Given the description of an element on the screen output the (x, y) to click on. 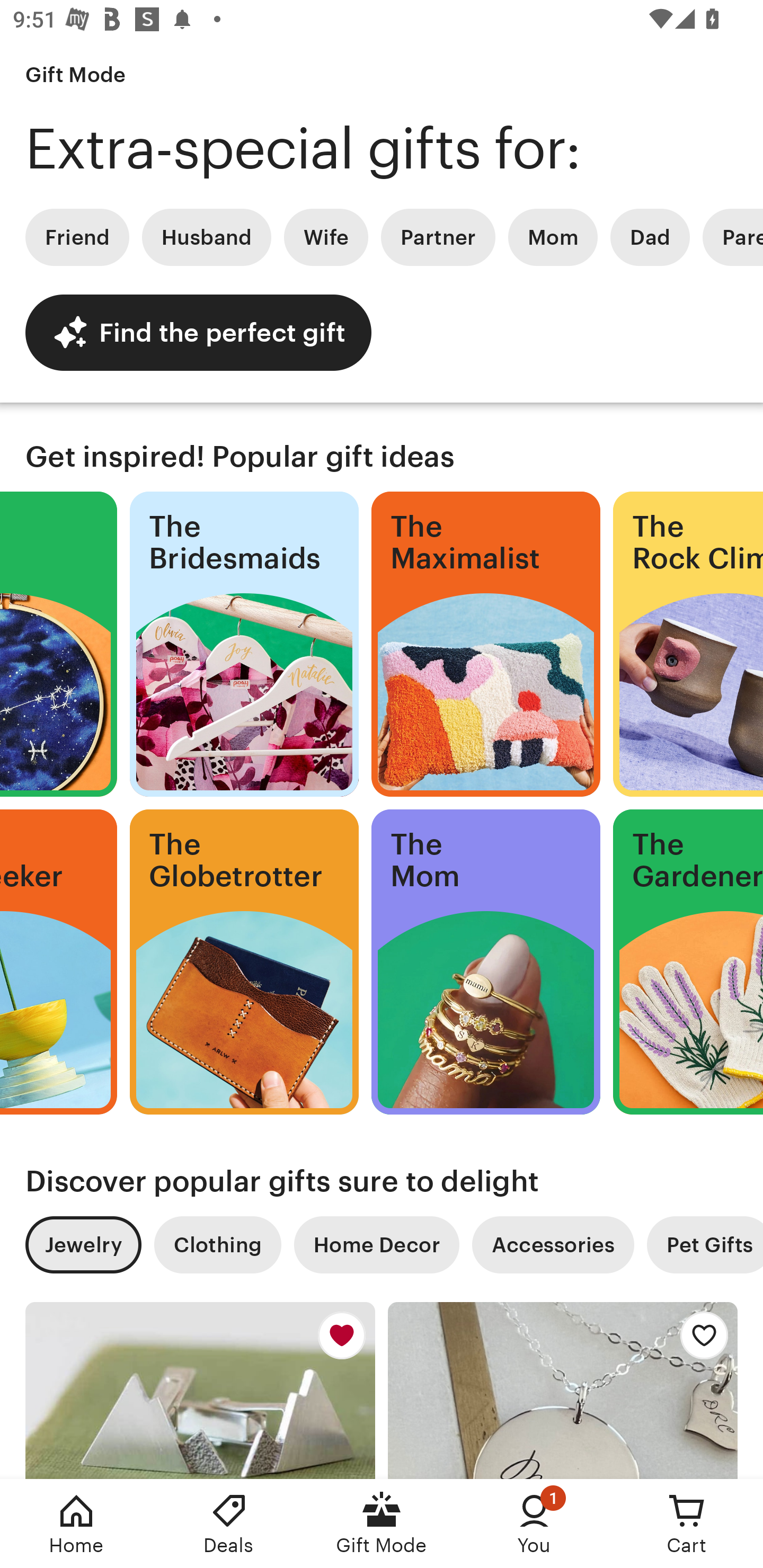
Friend (76, 237)
Husband (206, 237)
Wife (325, 237)
Partner (437, 237)
Mom (552, 237)
Dad (649, 237)
Find the perfect gift (198, 332)
The Bridesmaids (243, 644)
The Maximalist (485, 644)
The Rock Climber (687, 644)
The Globetrotter (243, 961)
The Mom (485, 961)
The Gardener (687, 961)
Jewelry (83, 1244)
Clothing (217, 1244)
Home Decor (376, 1244)
Accessories (553, 1244)
Pet Gifts (705, 1244)
Home (76, 1523)
Deals (228, 1523)
You, 1 new notification You (533, 1523)
Cart (686, 1523)
